Given the description of an element on the screen output the (x, y) to click on. 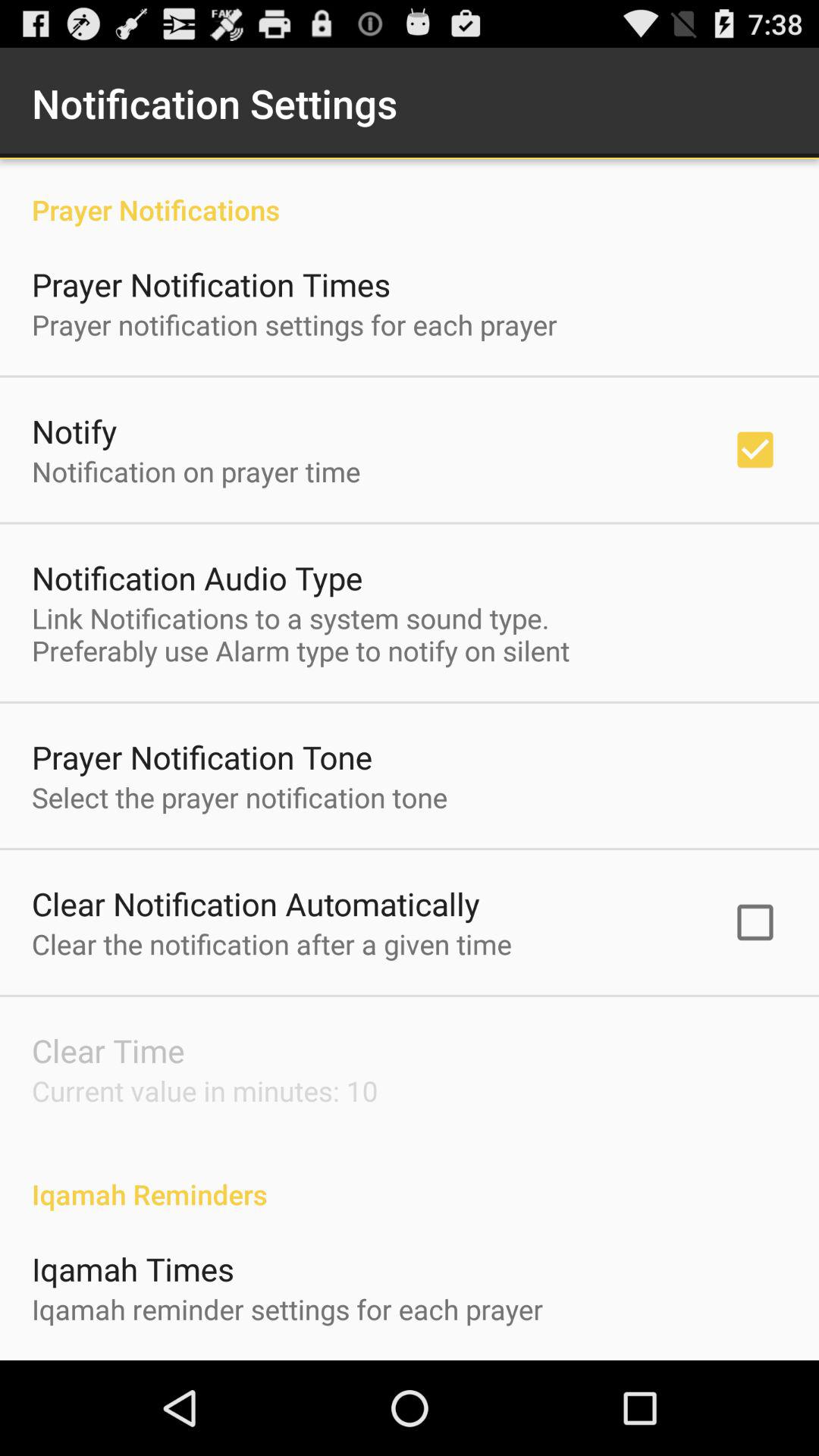
jump until the prayer notifications app (409, 193)
